Given the description of an element on the screen output the (x, y) to click on. 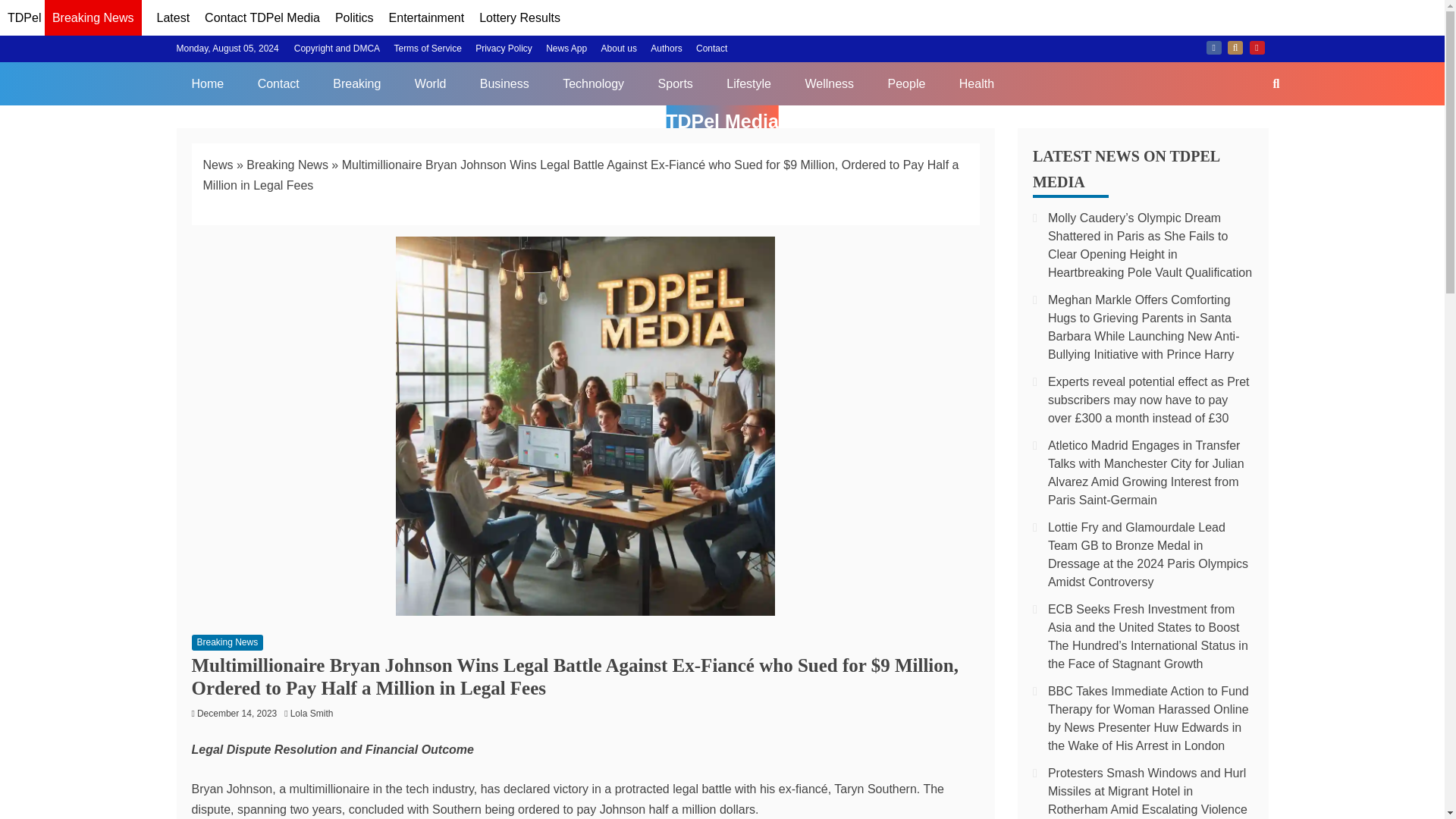
Contact TDPel Media (262, 17)
News App (566, 48)
Facebook (1214, 47)
Breaking News (287, 164)
Entertainment (426, 17)
People (906, 83)
Lottery Results (519, 17)
About us (619, 48)
Sports (675, 83)
Lola Smith (314, 713)
Politics (354, 17)
Terms of Service (427, 48)
December 14, 2023 (236, 713)
Technology (593, 83)
Authors (665, 48)
